Given the description of an element on the screen output the (x, y) to click on. 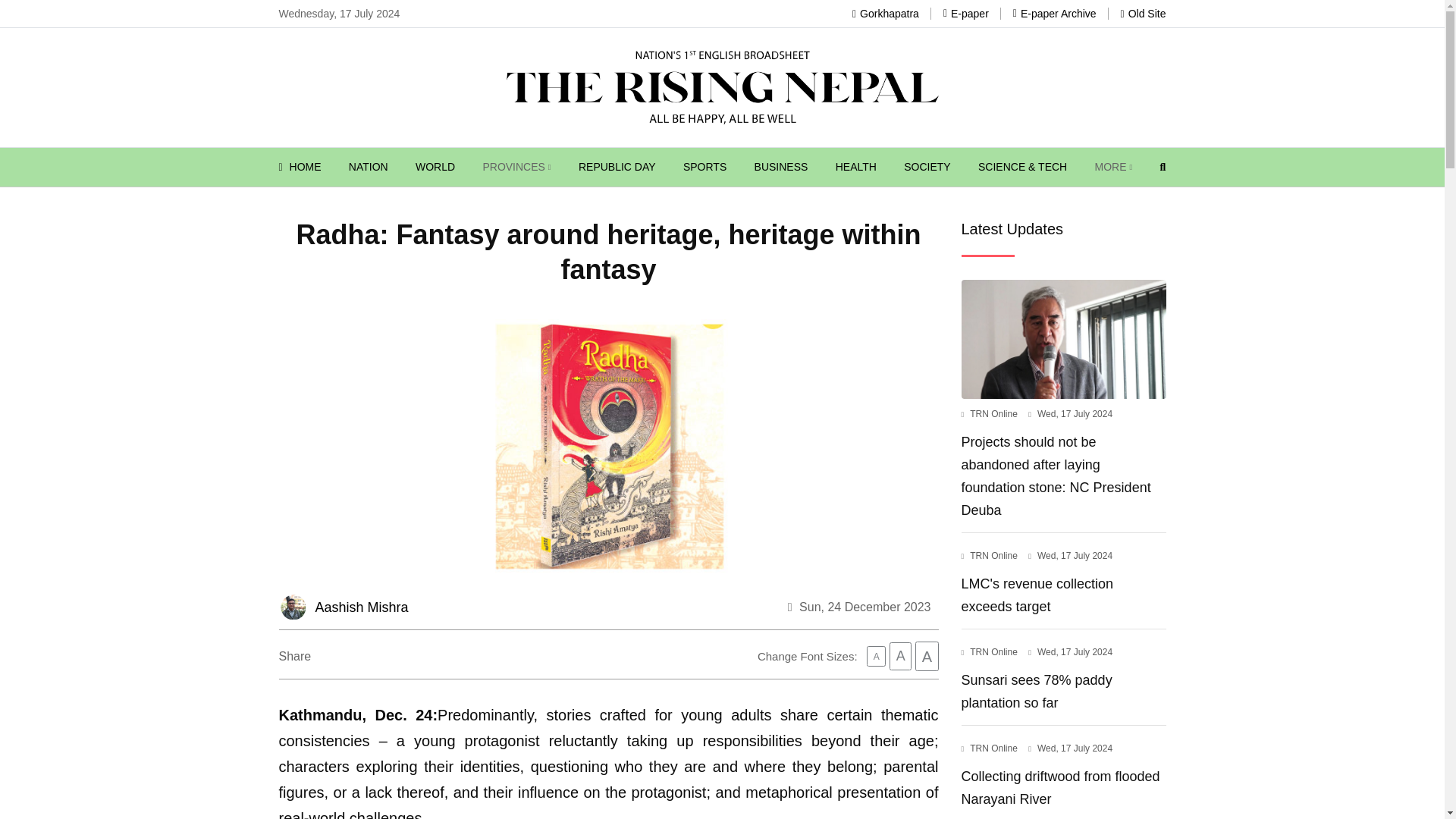
BUSINESS (781, 166)
A (900, 656)
SPORTS (704, 166)
MORE (1113, 166)
REPUBLIC DAY (617, 166)
SOCIETY (927, 166)
A (875, 656)
A (926, 656)
Old Site (1143, 13)
NATION (368, 166)
HOME (300, 167)
E-paper (965, 13)
PROVINCES (515, 166)
E-paper Archive (1054, 13)
Gorkhapatra (884, 13)
